Given the description of an element on the screen output the (x, y) to click on. 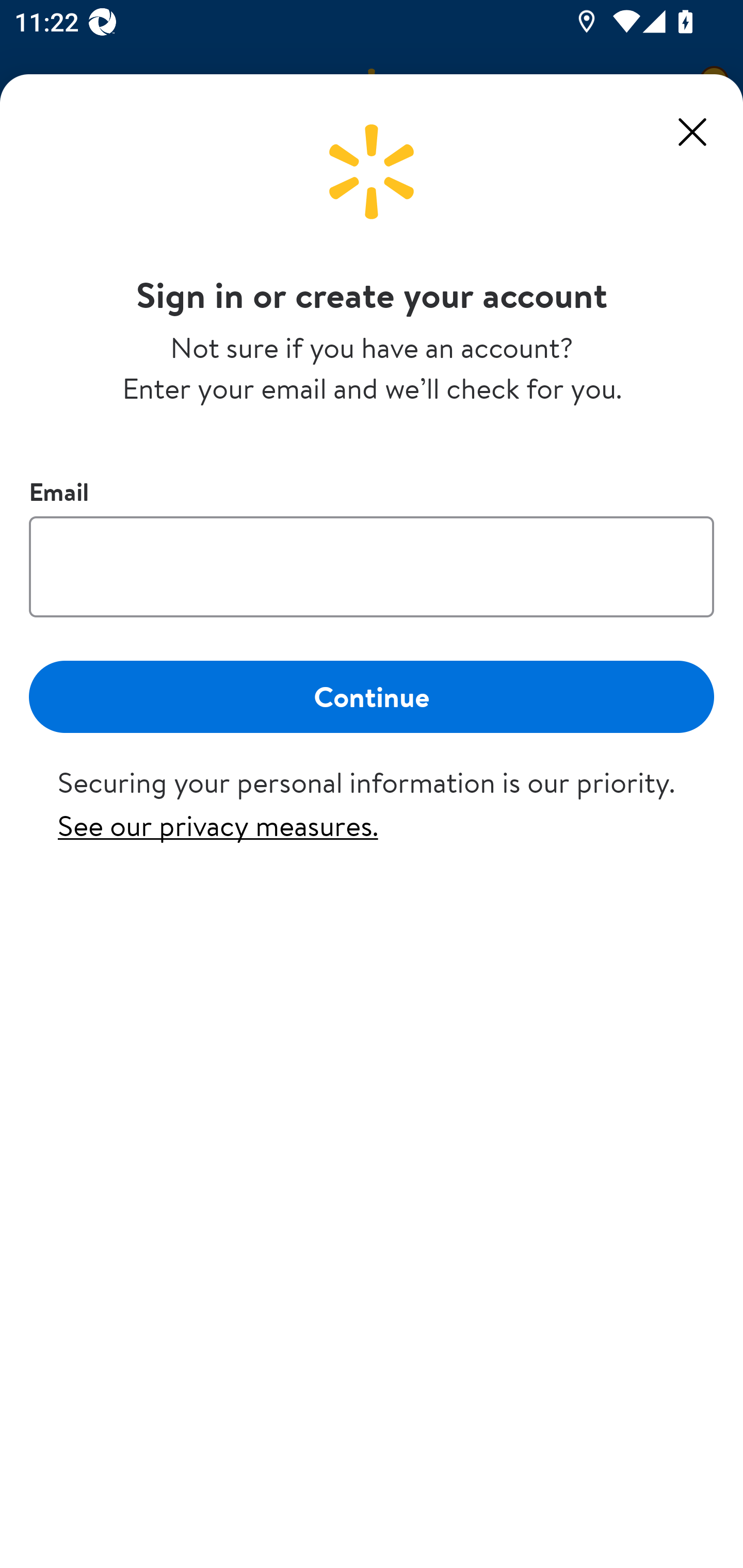
Close (692, 131)
Email (371, 566)
Continue (371, 696)
